Given the description of an element on the screen output the (x, y) to click on. 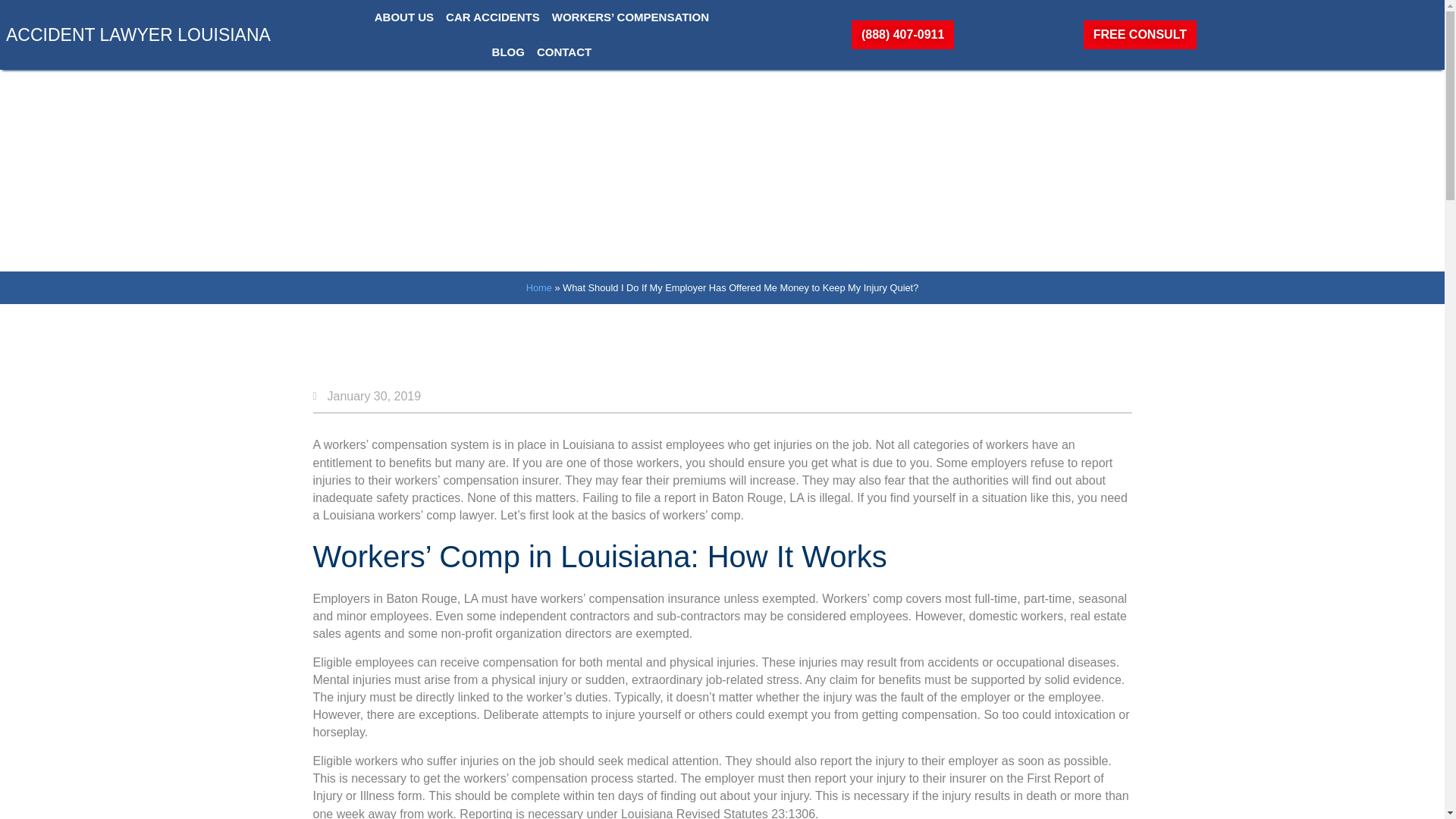
ACCIDENT LAWYER LOUISIANA (137, 35)
ABOUT US (403, 17)
Home (538, 287)
FREE CONSULT (1139, 34)
CONTACT (563, 52)
CAR ACCIDENTS (492, 17)
BLOG (508, 52)
